Given the description of an element on the screen output the (x, y) to click on. 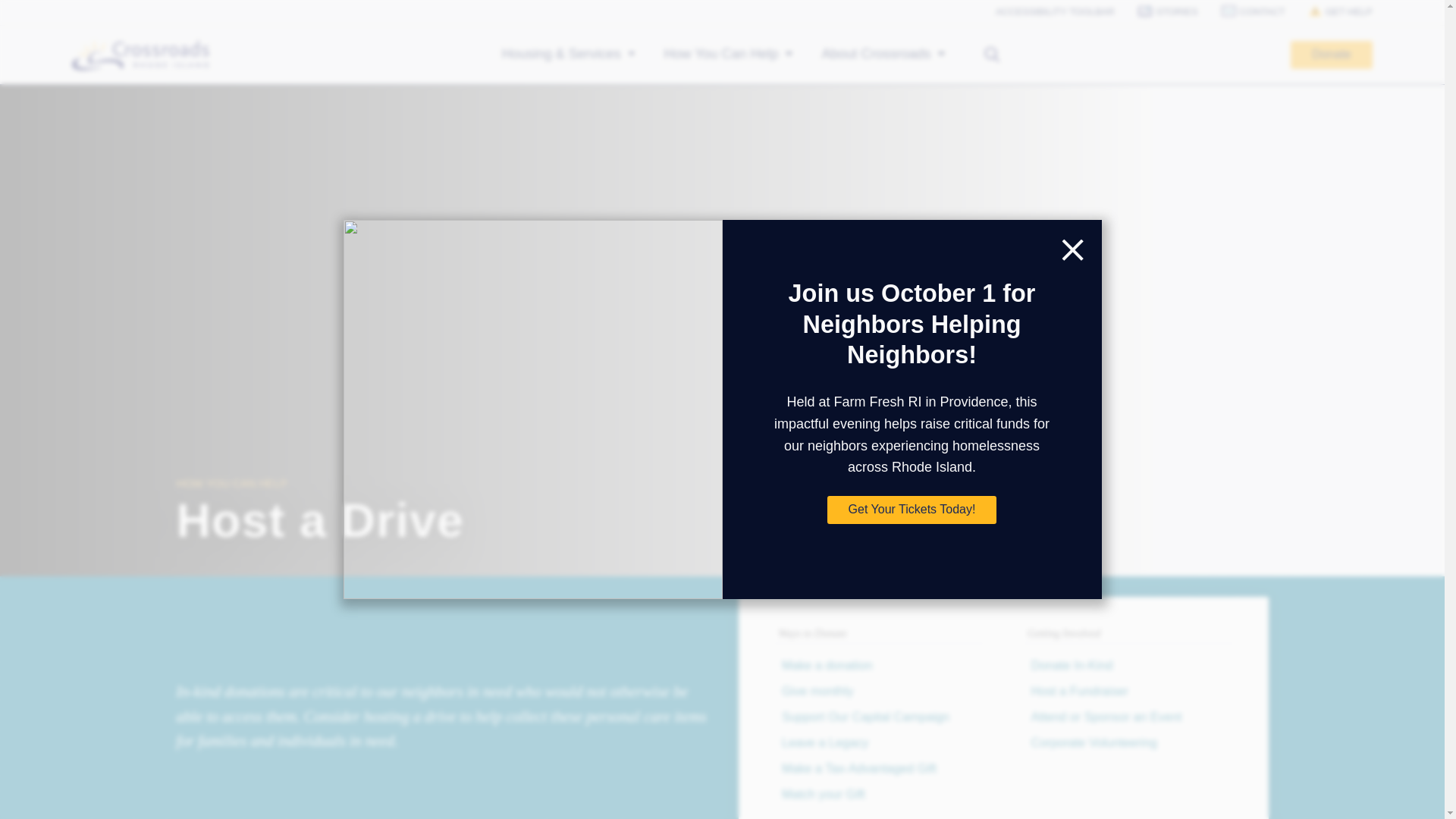
How You Can Help (728, 54)
GET HELP (1329, 12)
About Crossroads (883, 54)
STORIES (1156, 12)
CONTACT (1241, 12)
